Given the description of an element on the screen output the (x, y) to click on. 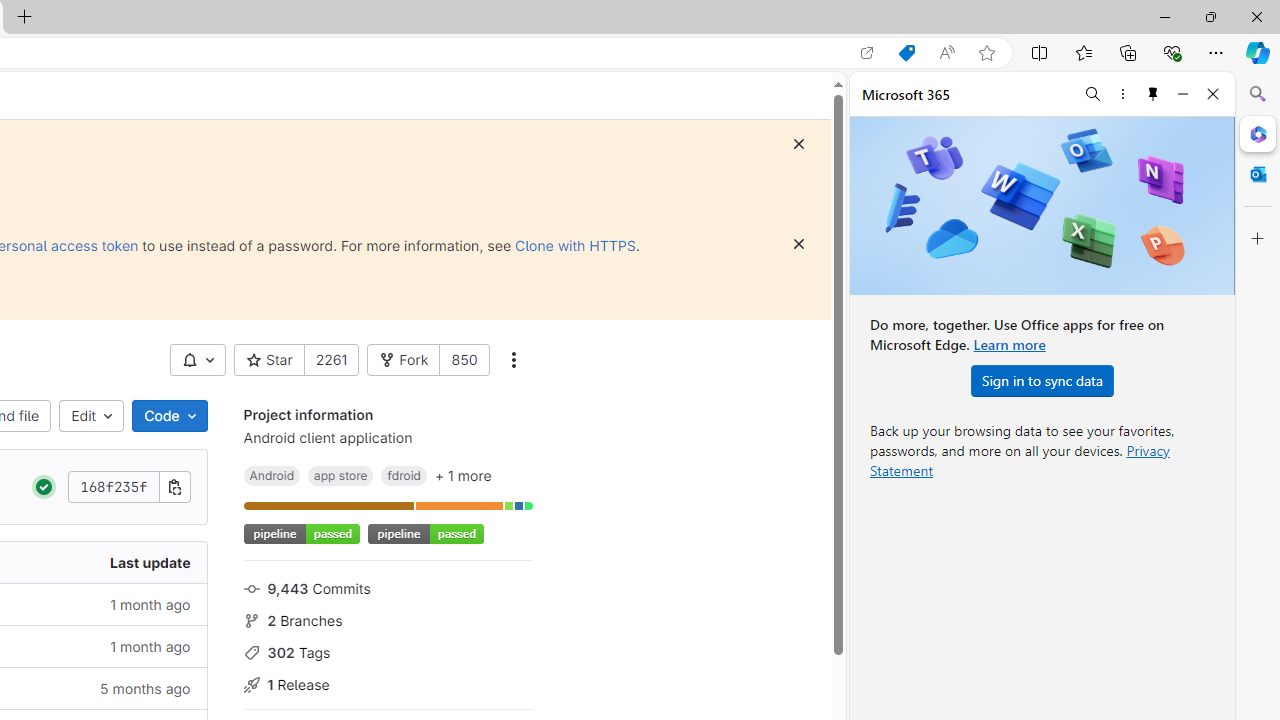
2 Branches (387, 619)
Learn more about Microsoft Office. (1008, 344)
Edit (91, 416)
